Given the description of an element on the screen output the (x, y) to click on. 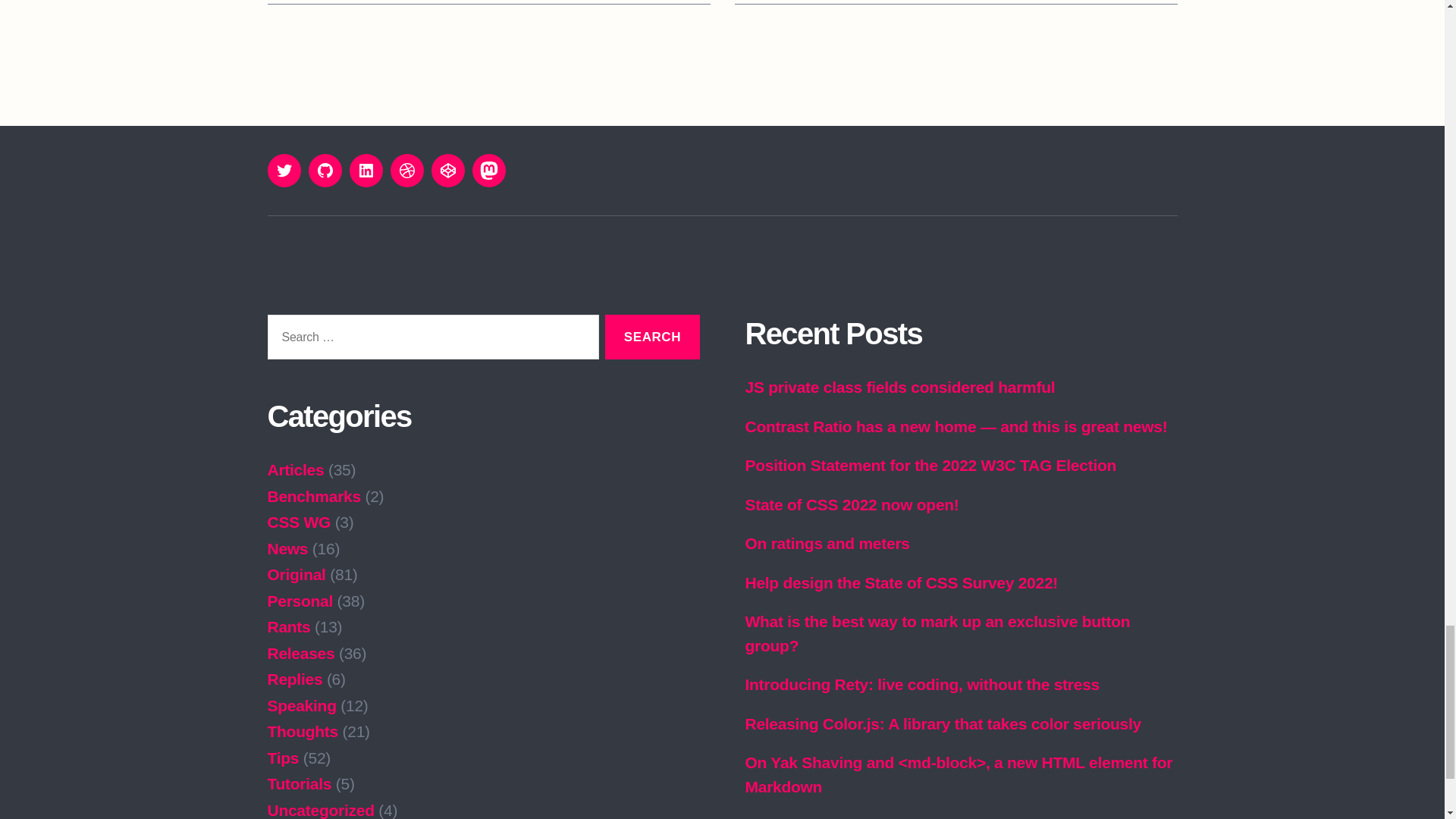
Search (651, 336)
Search (651, 336)
